Given the description of an element on the screen output the (x, y) to click on. 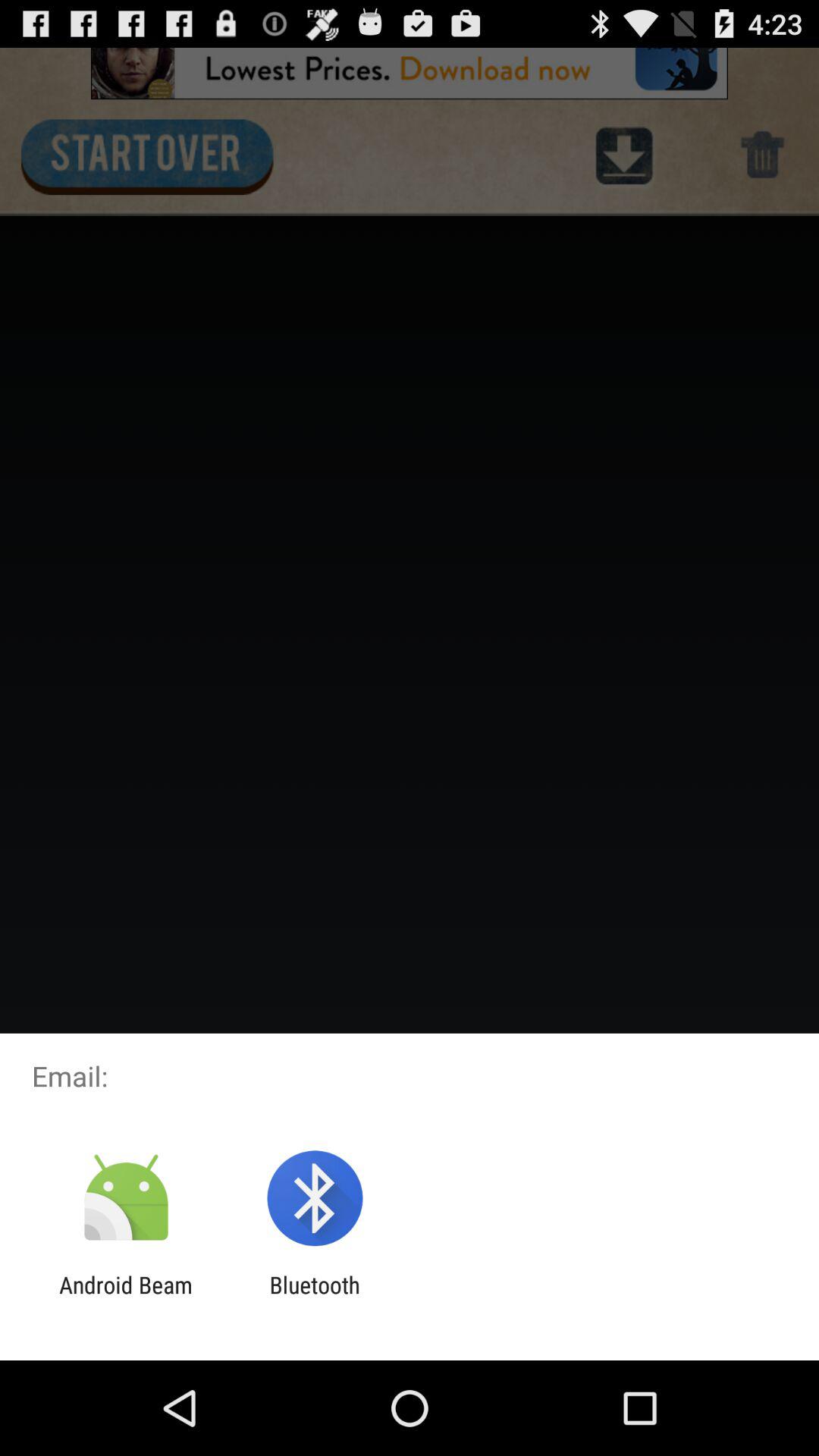
choose item to the left of bluetooth icon (125, 1298)
